Given the description of an element on the screen output the (x, y) to click on. 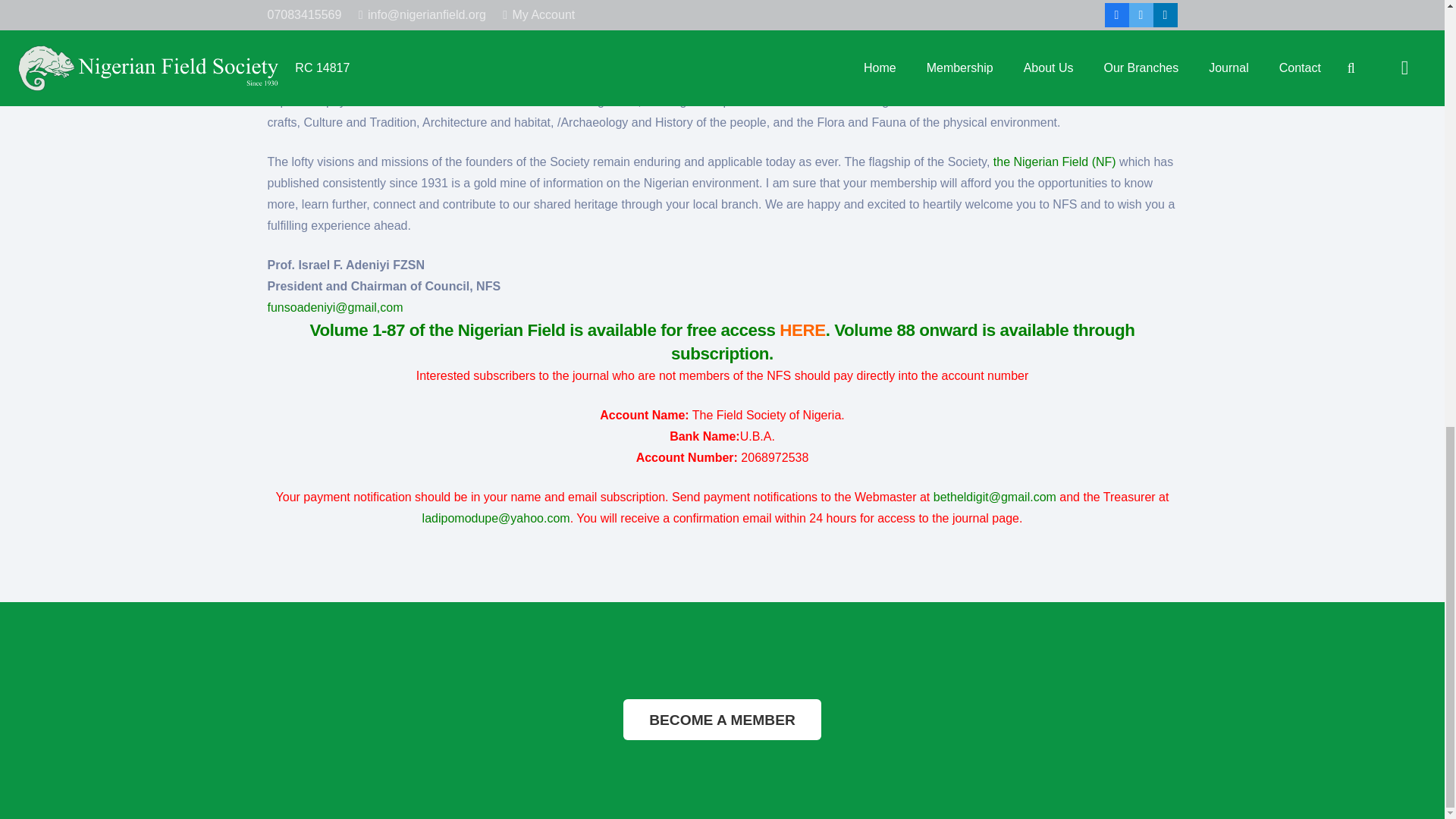
BECOME A MEMBER (722, 719)
HERE (801, 330)
